Given the description of an element on the screen output the (x, y) to click on. 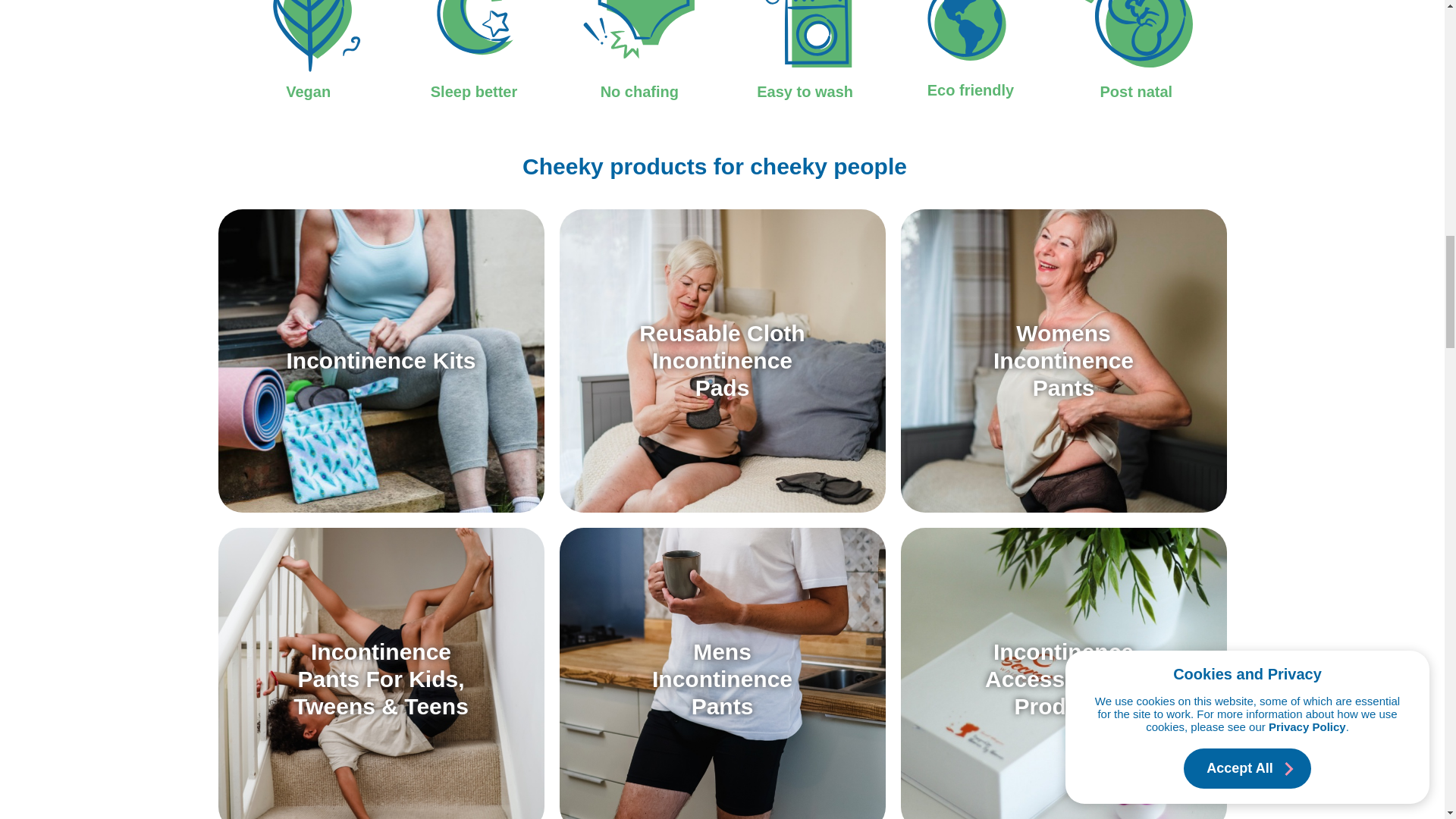
Incontinence Kits (380, 360)
Reusable Cloth Incontinence Pads (722, 360)
Mens Incontinence Pants (722, 679)
Womens Incontinence Pants (1063, 360)
